Given the description of an element on the screen output the (x, y) to click on. 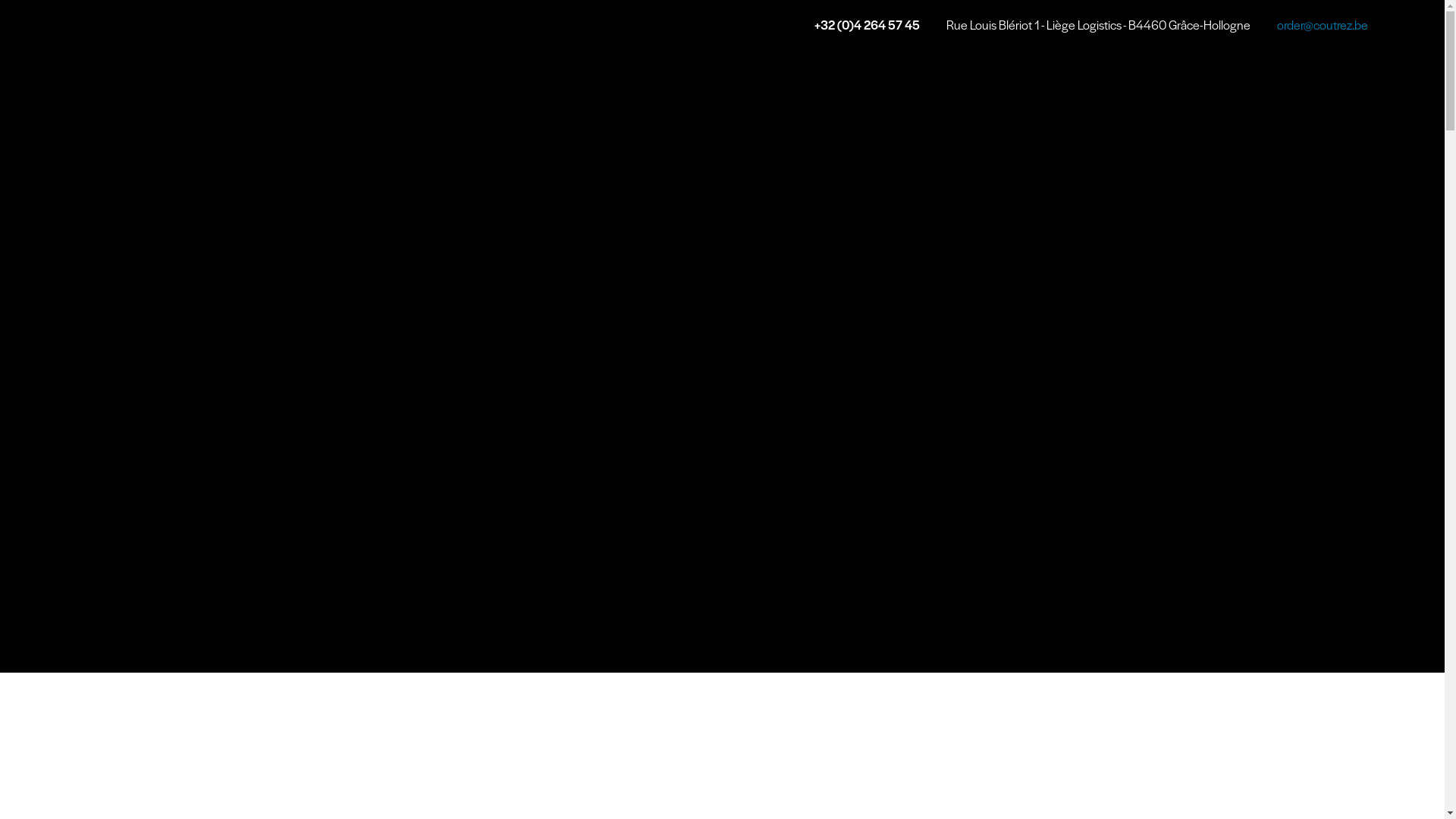
+32 (0)4 264 57 45 Element type: text (866, 24)
En savoir plus sur Coutrez Element type: hover (1411, 648)
